Given the description of an element on the screen output the (x, y) to click on. 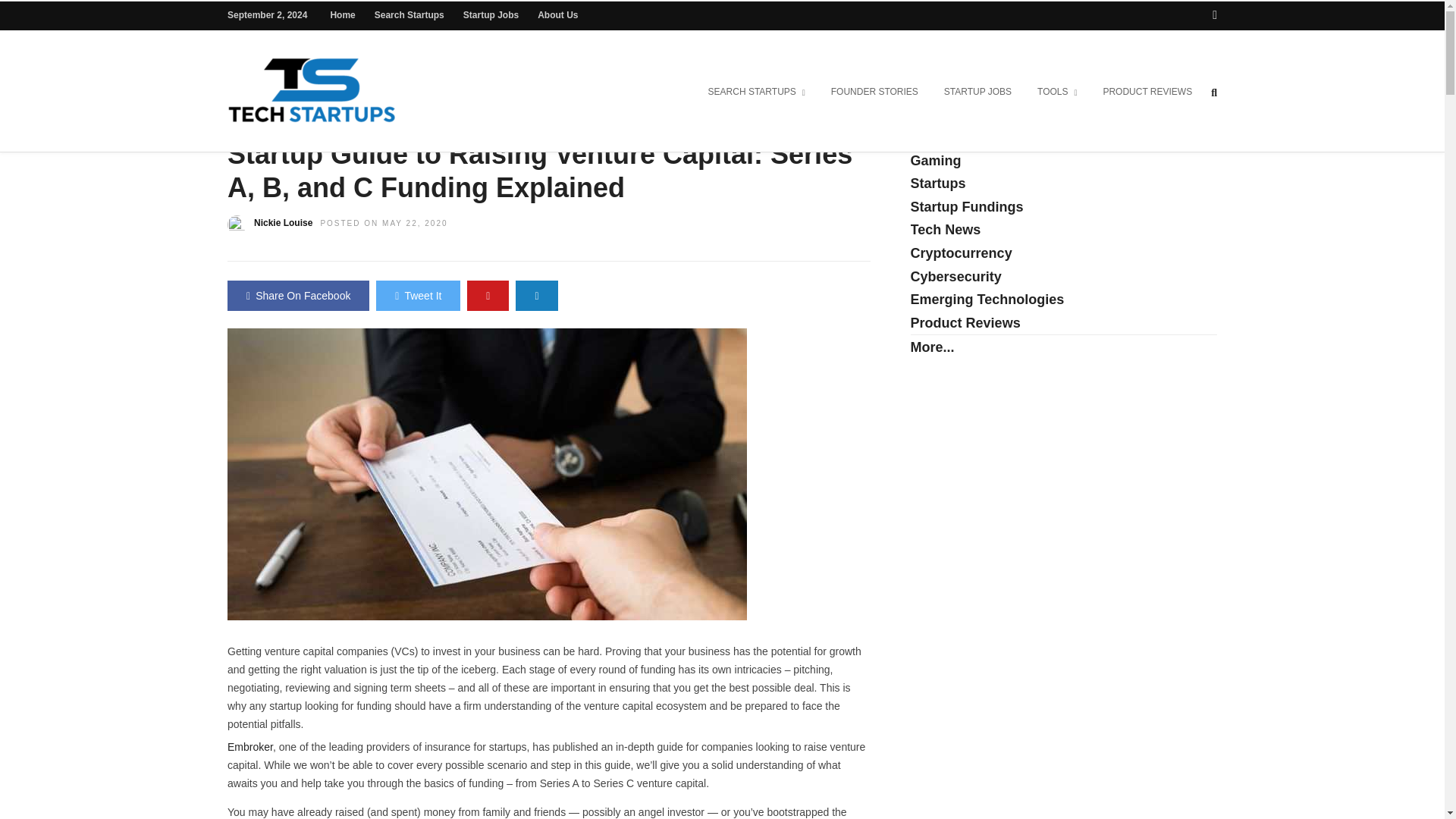
About Us (557, 14)
Share by Email (536, 295)
Startup Jobs (490, 14)
PRODUCT REVIEWS (1147, 92)
HOME (243, 122)
Tweet It (417, 295)
Embroker (250, 746)
Nickie Louise (283, 222)
SEARCH STARTUPS (756, 92)
Share On Facebook (298, 295)
